Given the description of an element on the screen output the (x, y) to click on. 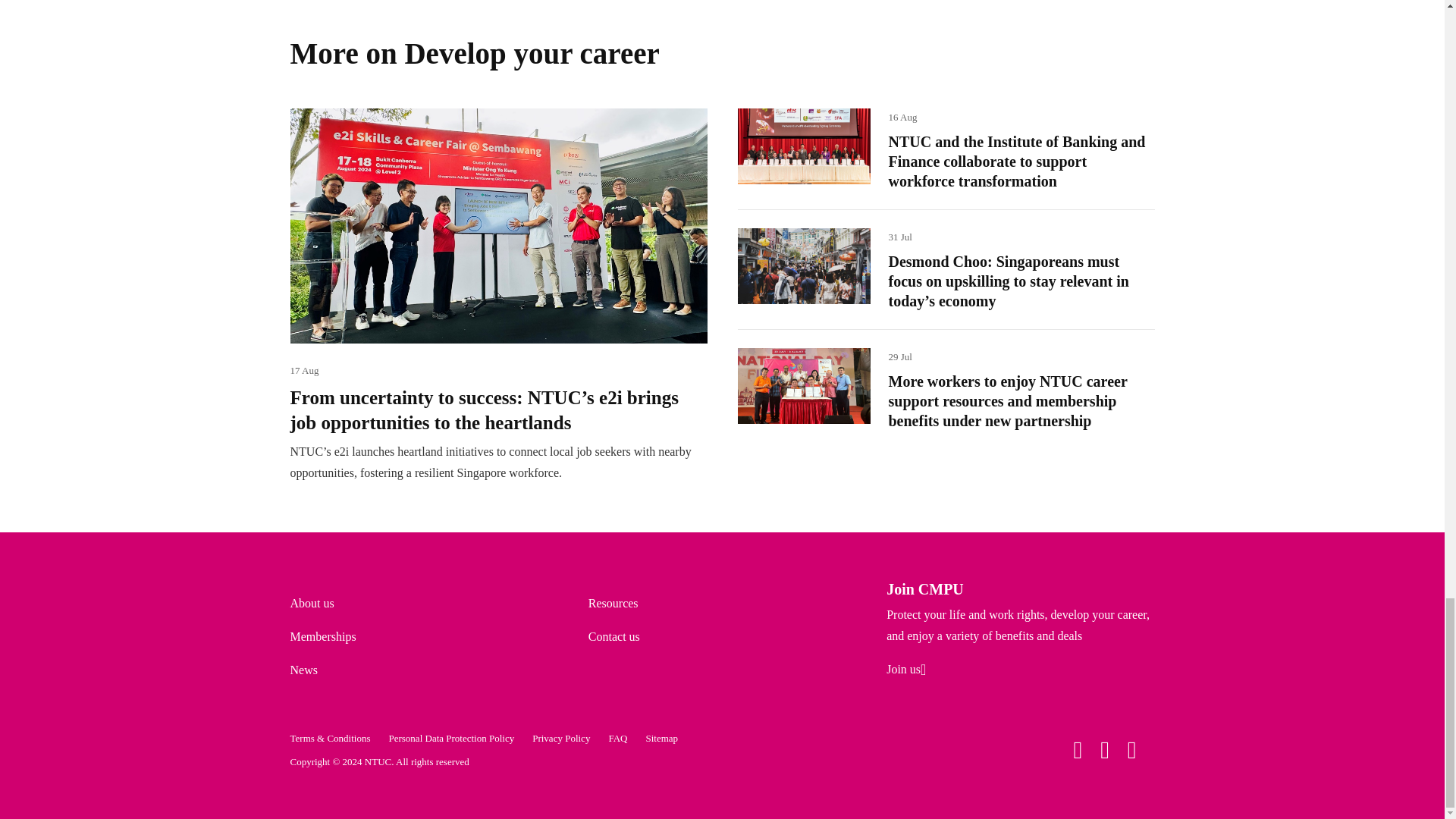
Join us (906, 669)
Resources (613, 603)
News (303, 669)
Memberships (322, 635)
Sitemap (661, 737)
Privacy Policy (560, 737)
Personal Data Protection Policy (450, 737)
FAQ (617, 737)
